Given the description of an element on the screen output the (x, y) to click on. 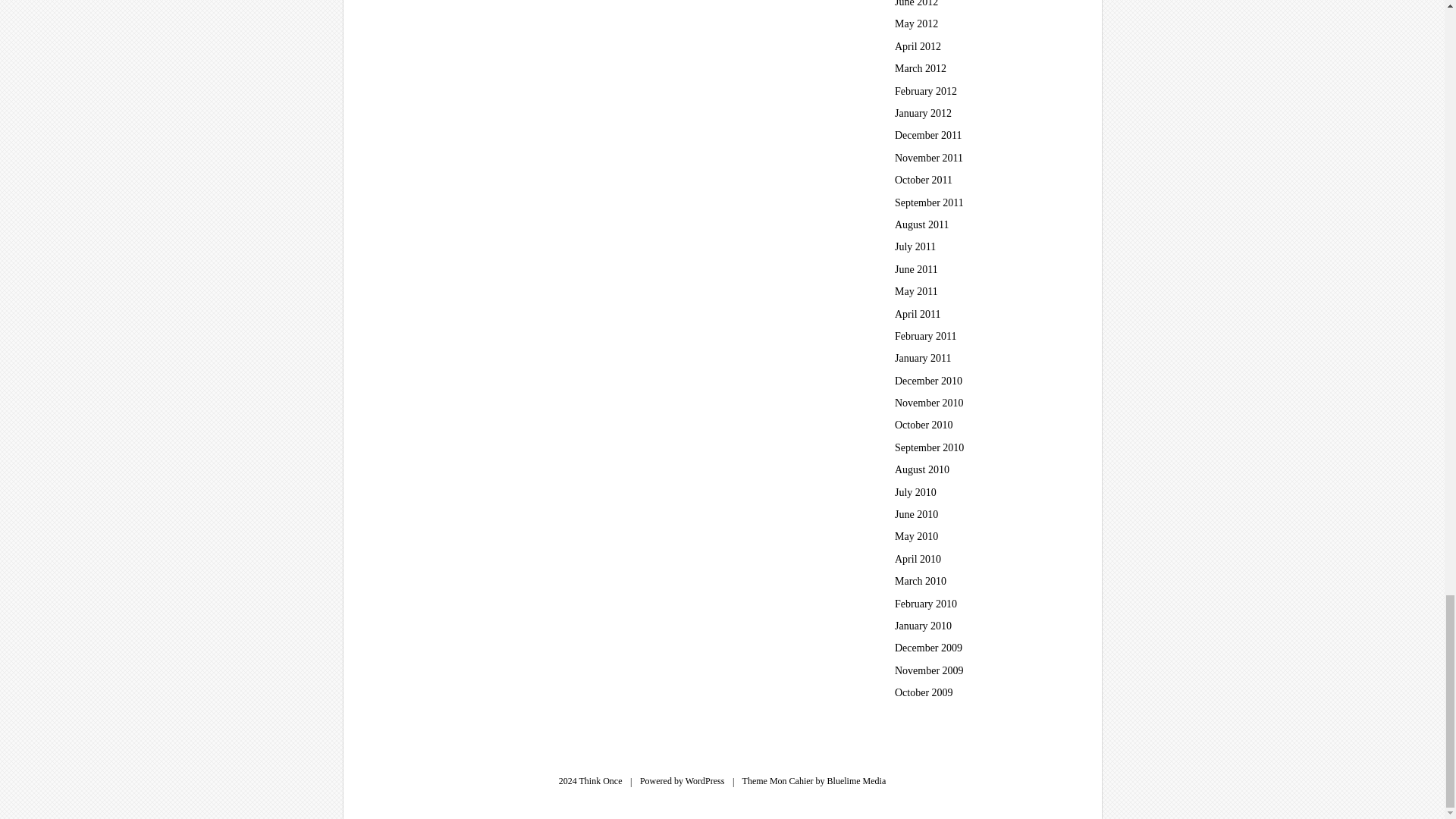
Bluelime Media (856, 780)
Semantic Personal Publishing Platform (705, 780)
